Given the description of an element on the screen output the (x, y) to click on. 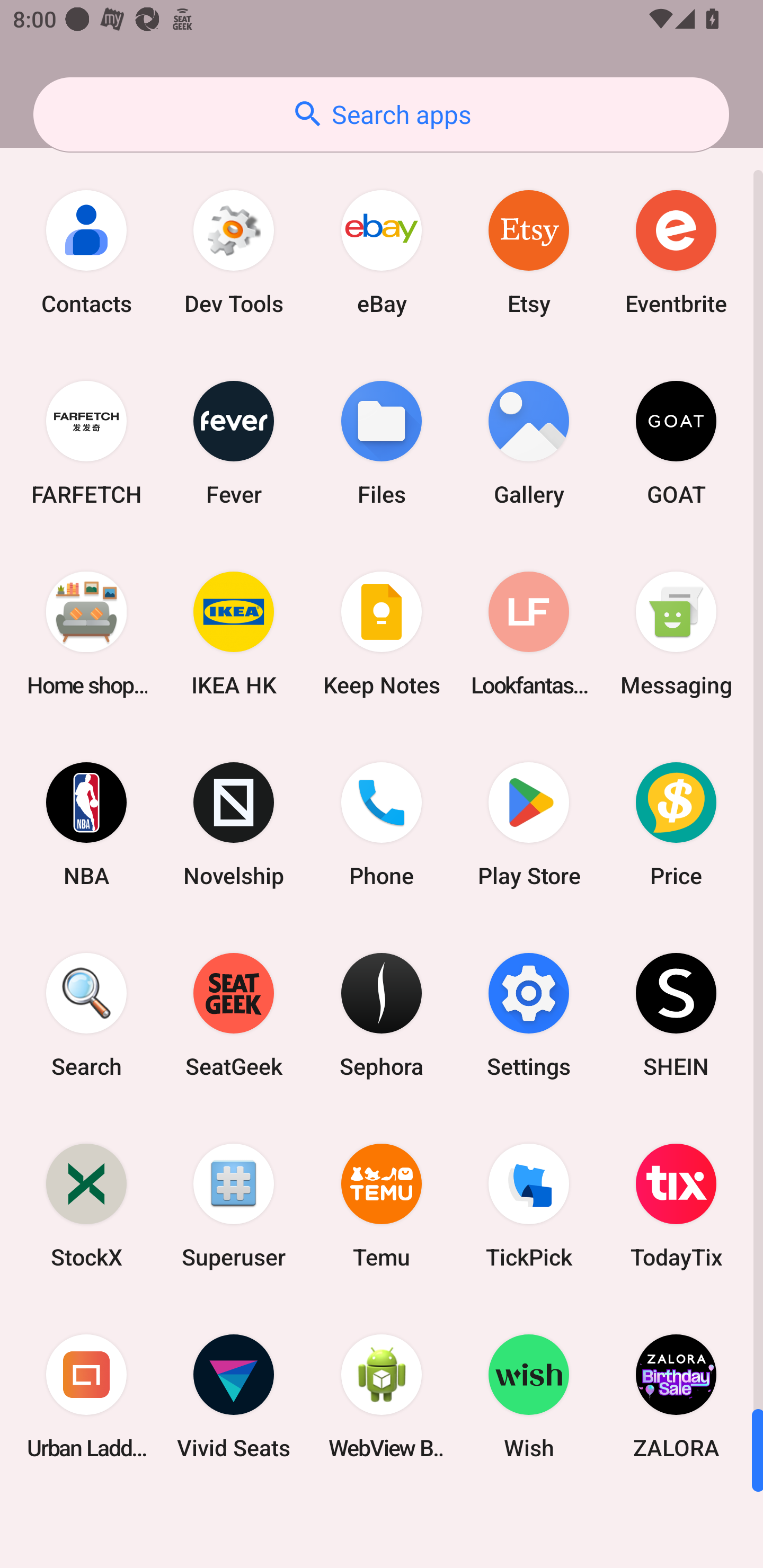
  Search apps (381, 114)
Contacts (86, 252)
Dev Tools (233, 252)
eBay (381, 252)
Etsy (528, 252)
Eventbrite (676, 252)
FARFETCH (86, 442)
Fever (233, 442)
Files (381, 442)
Gallery (528, 442)
GOAT (676, 442)
Home shopping (86, 633)
IKEA HK (233, 633)
Keep Notes (381, 633)
Lookfantastic (528, 633)
Messaging (676, 633)
NBA (86, 823)
Novelship (233, 823)
Phone (381, 823)
Play Store (528, 823)
Price (676, 823)
Search (86, 1014)
SeatGeek (233, 1014)
Sephora (381, 1014)
Settings (528, 1014)
SHEIN (676, 1014)
StockX (86, 1205)
Superuser (233, 1205)
Temu (381, 1205)
TickPick (528, 1205)
TodayTix (676, 1205)
Urban Ladder (86, 1396)
Vivid Seats (233, 1396)
WebView Browser Tester (381, 1396)
Wish (528, 1396)
ZALORA (676, 1396)
